Given the description of an element on the screen output the (x, y) to click on. 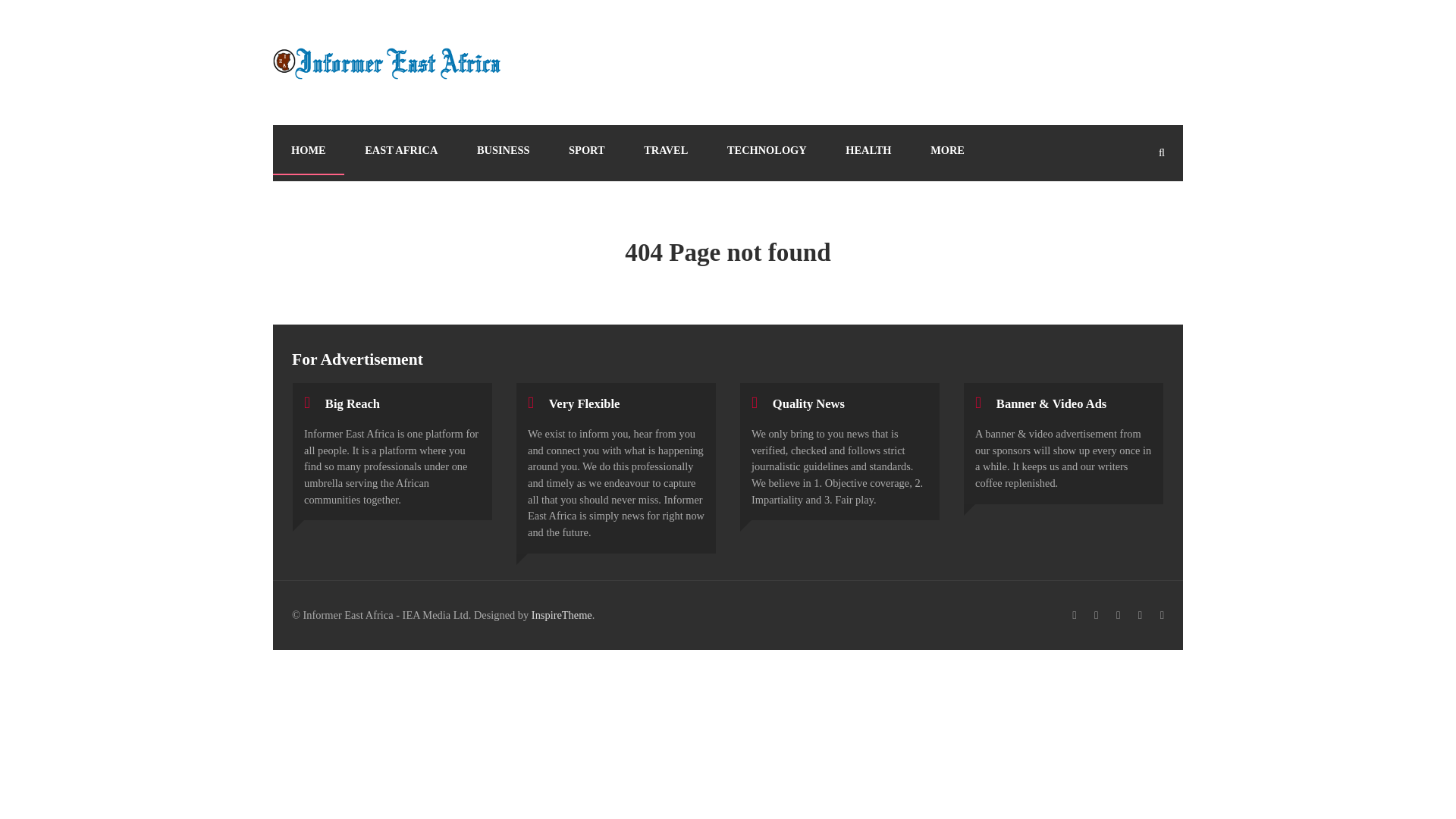
BUSINESS (503, 149)
InspireTheme (561, 614)
Facebook (1073, 615)
EAST AFRICA (400, 149)
HEALTH (867, 149)
TRAVEL (666, 149)
Twitter (1095, 615)
SPORT (586, 149)
HOME (308, 149)
MORE (947, 149)
